Given the description of an element on the screen output the (x, y) to click on. 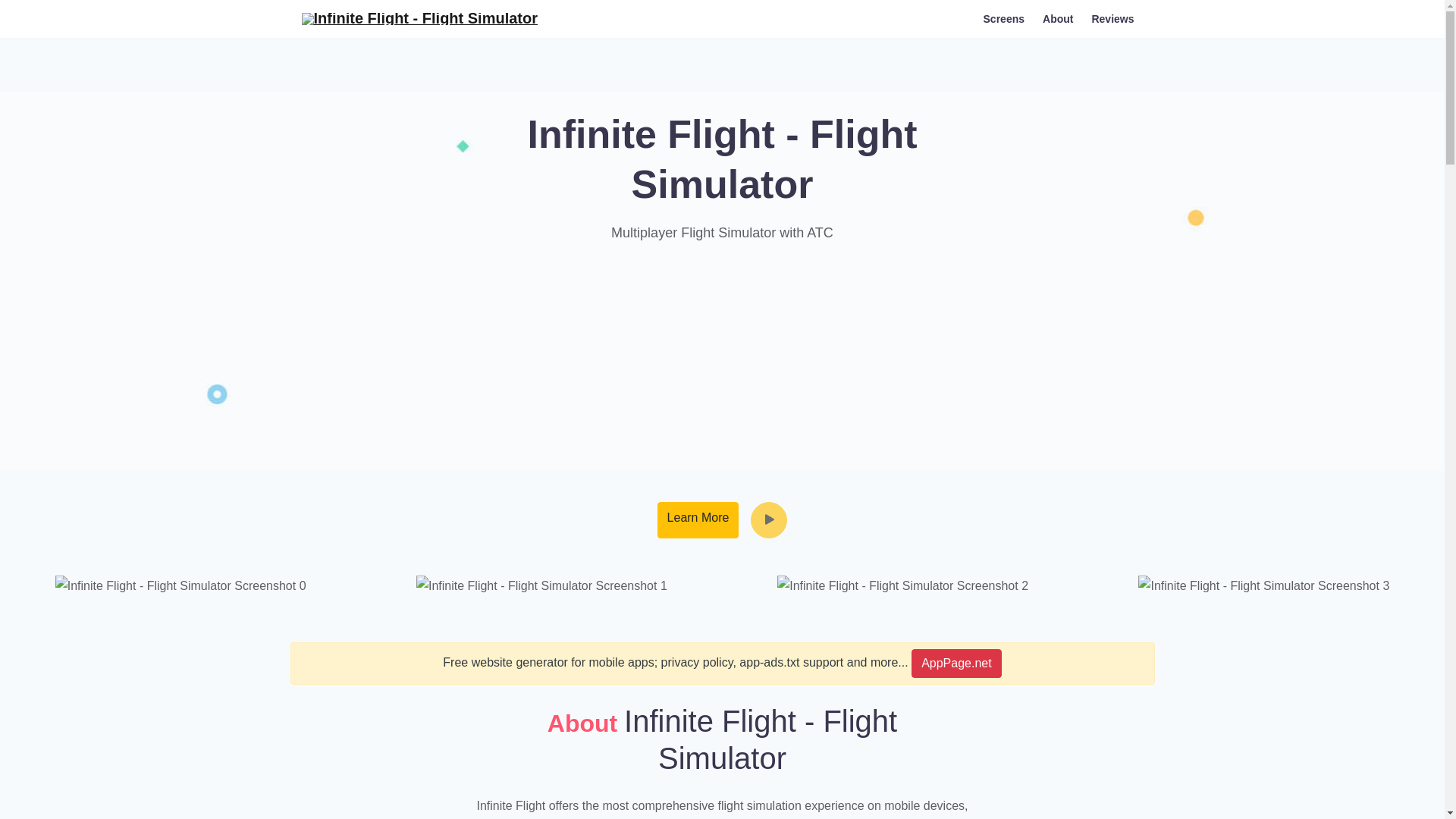
About (1057, 18)
Screens (1003, 18)
Learn More (698, 520)
Learn More (698, 520)
Screens (1003, 18)
Reviews (1111, 18)
About (1057, 18)
Reviews (1111, 18)
Learn More (698, 520)
